Given the description of an element on the screen output the (x, y) to click on. 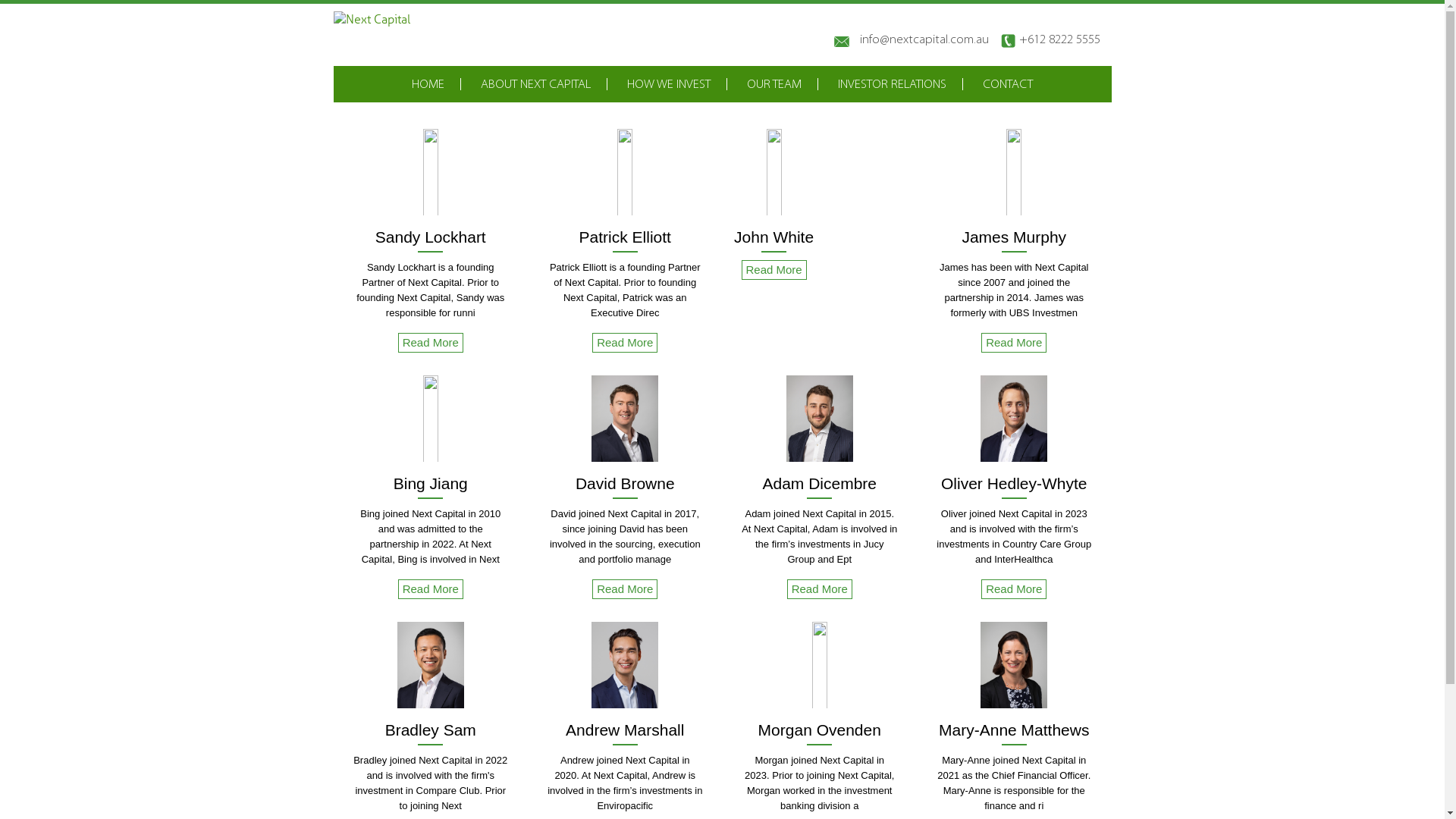
Read More Element type: text (819, 589)
Read More Element type: text (430, 589)
OUR TEAM Element type: text (773, 84)
info@nextcapital.com.au Element type: text (914, 40)
Read More Element type: text (624, 342)
HOME Element type: text (427, 84)
Read More Element type: text (1013, 342)
Read More Element type: text (1013, 589)
ABOUT NEXT CAPITAL Element type: text (535, 84)
CONTACT Element type: text (1007, 84)
Read More Element type: text (624, 589)
Read More Element type: text (430, 342)
INVESTOR RELATIONS Element type: text (891, 84)
HOW WE INVEST Element type: text (668, 84)
Read More Element type: text (773, 269)
+612 8222 5555 Element type: text (1053, 39)
